Given the description of an element on the screen output the (x, y) to click on. 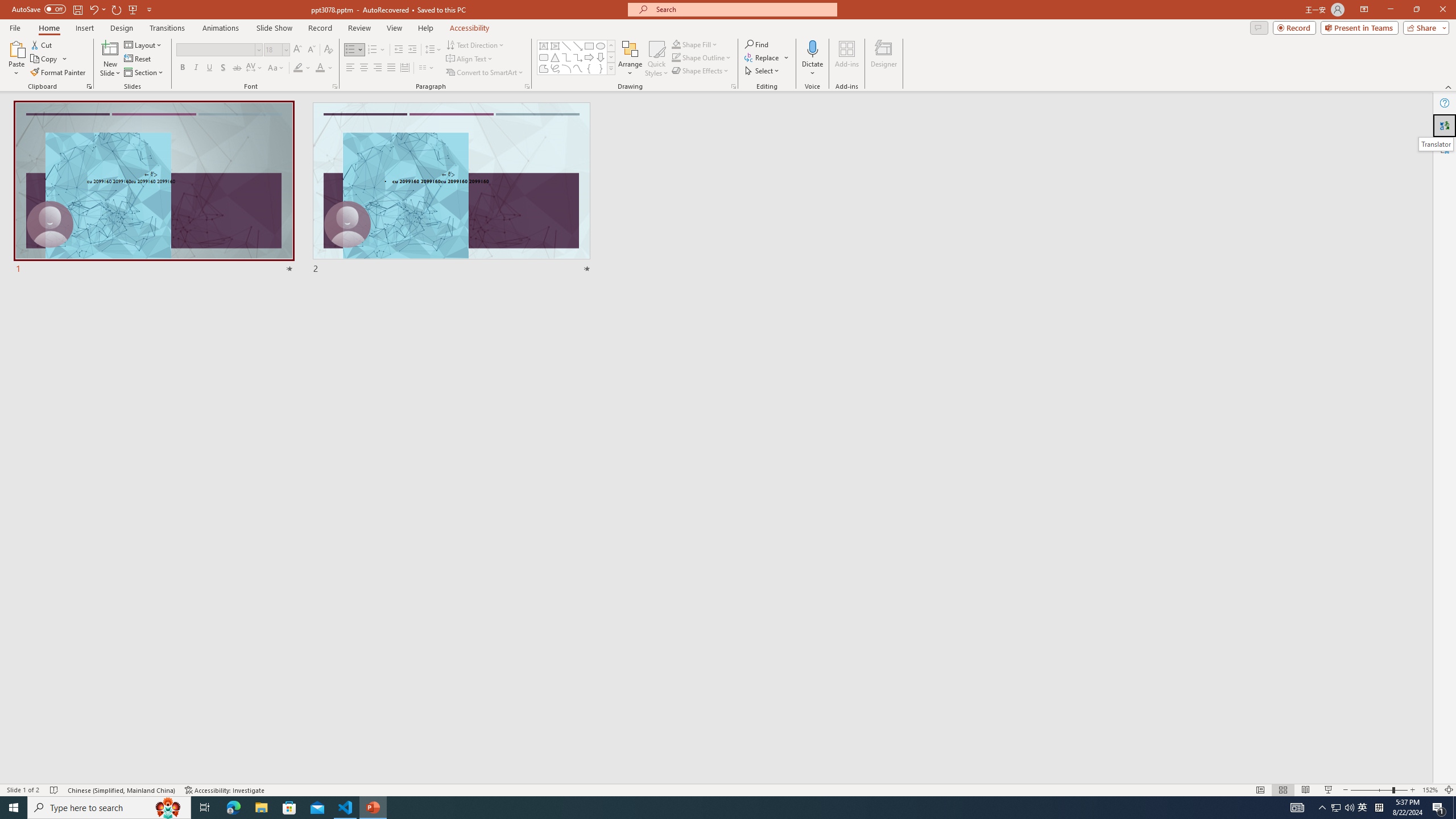
Font Size (273, 49)
Font... (334, 85)
Numbering (372, 49)
Font Size (276, 49)
Ribbon Display Options (1364, 9)
Paste (16, 48)
Comments (1259, 27)
Section (144, 72)
Select (762, 69)
View (395, 28)
Dictate (812, 48)
Shape Outline (701, 56)
More Options (812, 68)
Collapse the Ribbon (1448, 86)
Line Arrow (577, 45)
